Given the description of an element on the screen output the (x, y) to click on. 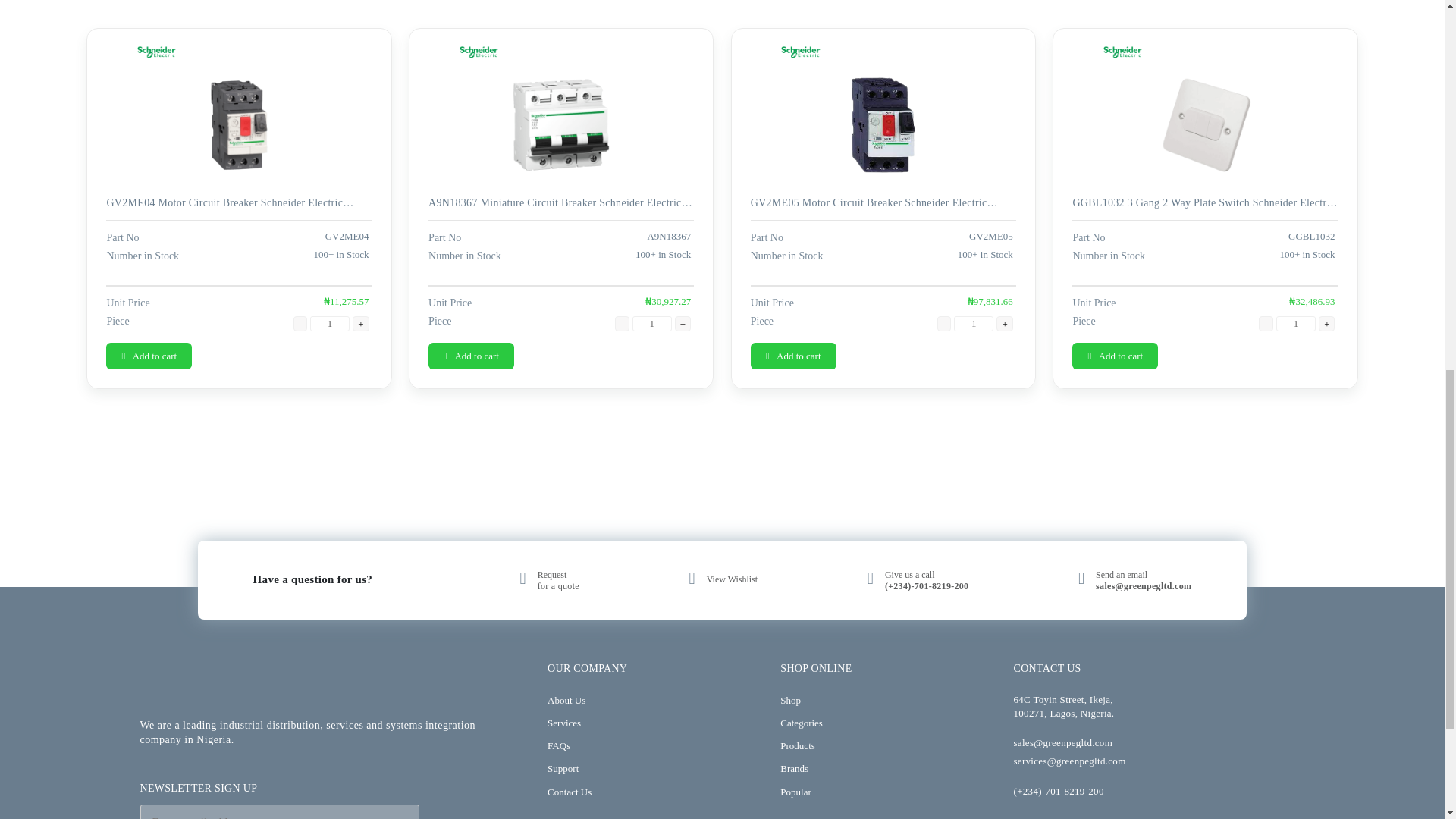
1 (329, 323)
Qty (651, 323)
Qty (972, 323)
Qty (1296, 323)
1 (972, 323)
Qty (329, 323)
1 (1296, 323)
1 (651, 323)
